Given the description of an element on the screen output the (x, y) to click on. 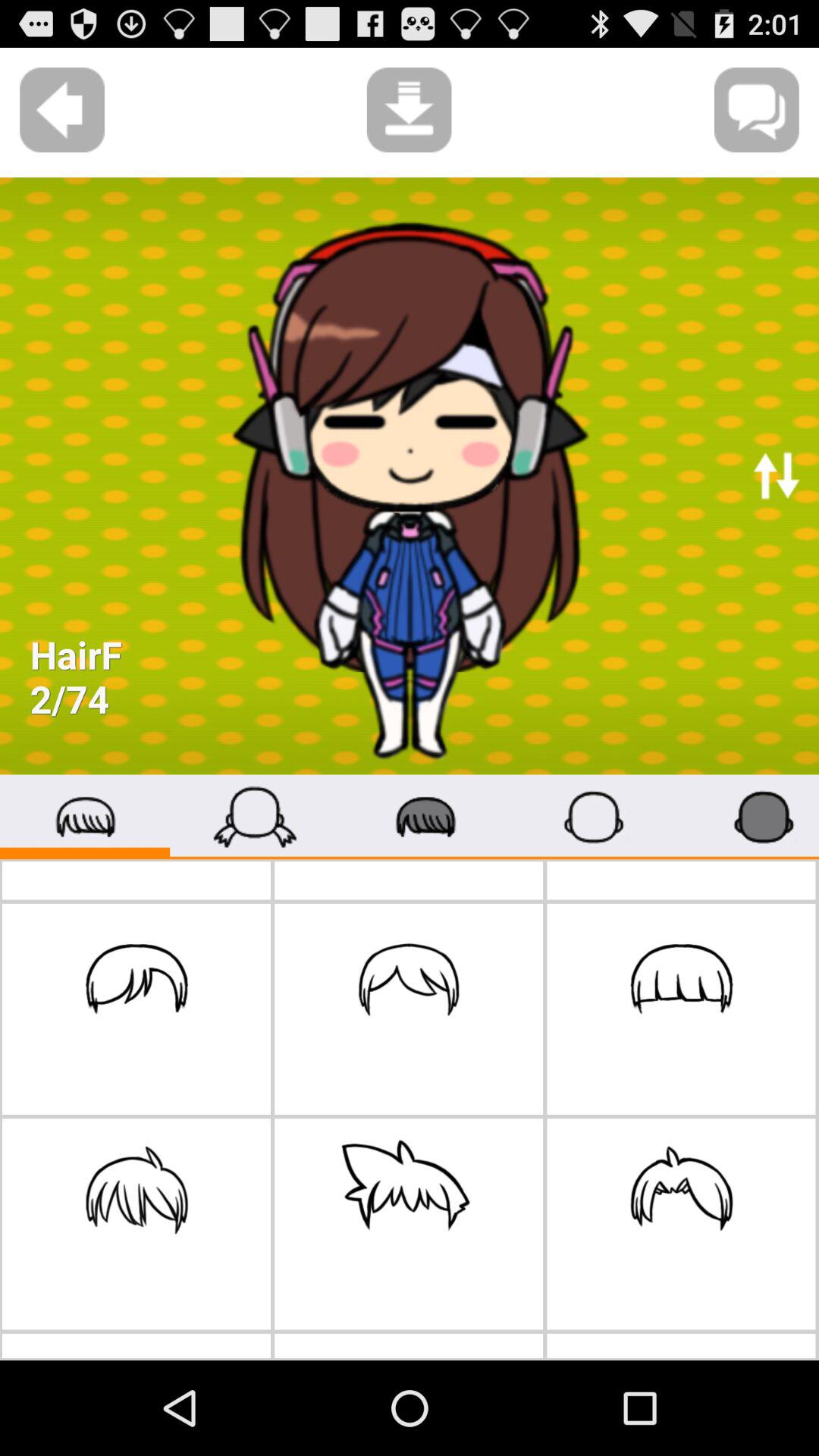
click the chat icon on the top right corner of the web page (756, 109)
click the download icon at the top left to text message icon (409, 109)
select the first image on the web page (409, 475)
select the 5th hair style icon on the web page (408, 1224)
select the icon below the first tab on the web page (136, 1009)
